Given the description of an element on the screen output the (x, y) to click on. 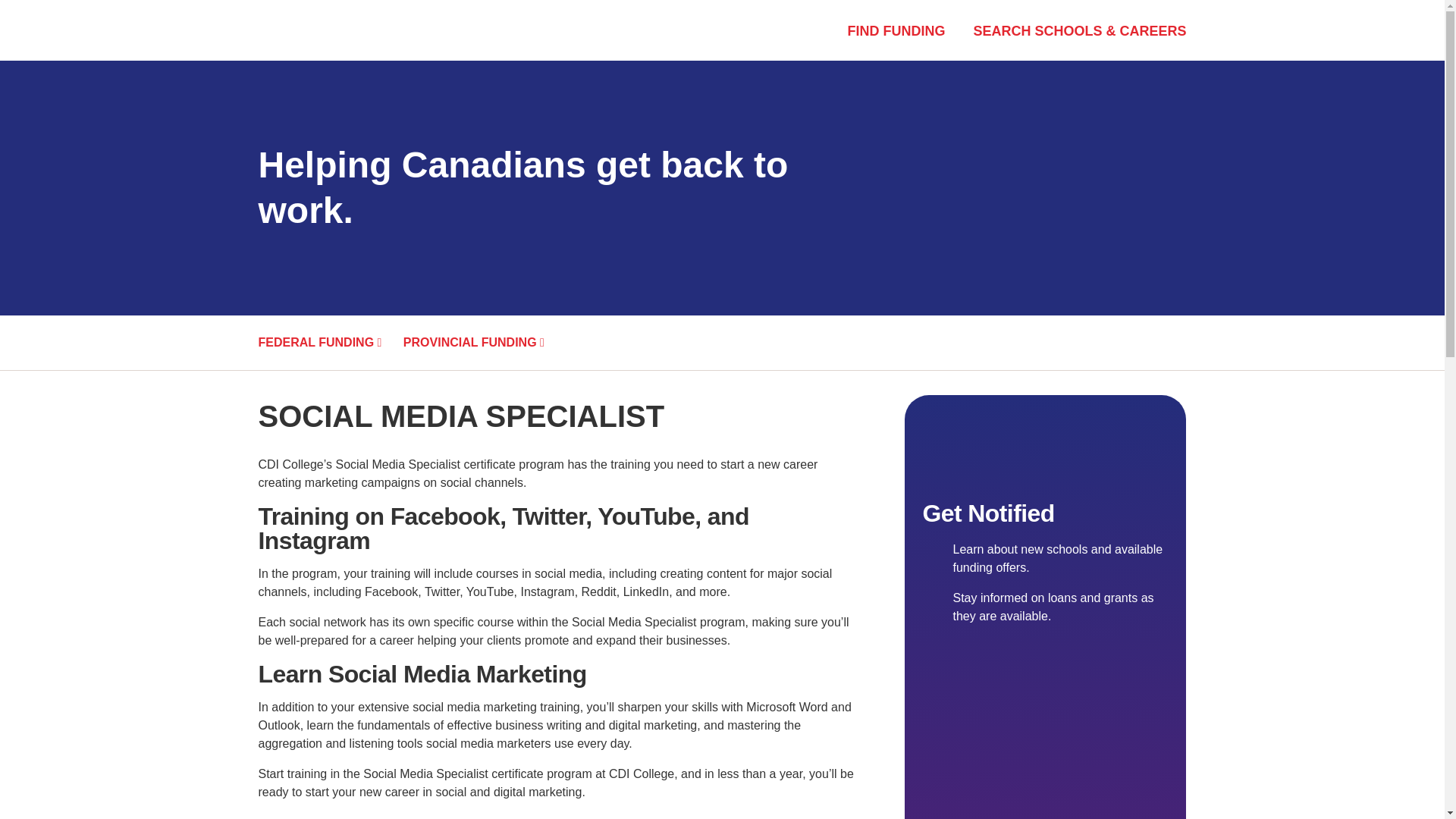
PROVINCIAL FUNDING (482, 342)
FIND FUNDING (895, 31)
FEDERAL FUNDING (327, 342)
